Given the description of an element on the screen output the (x, y) to click on. 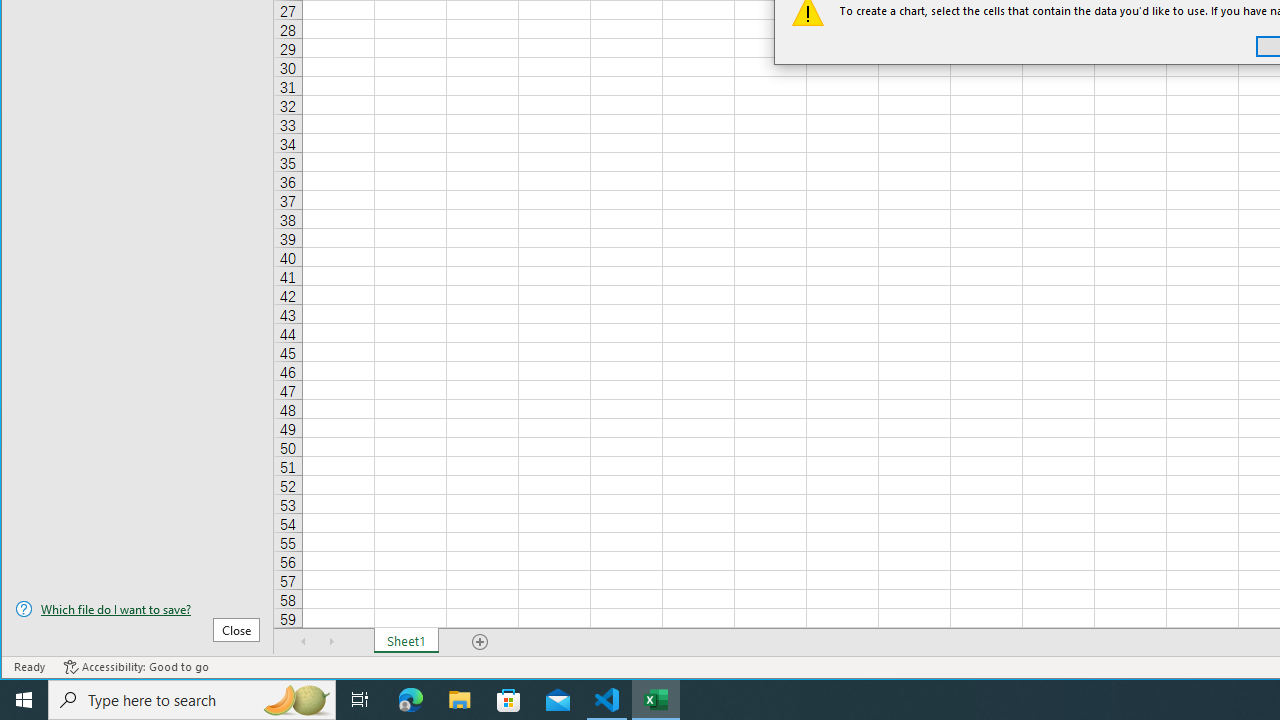
Type here to search (191, 699)
Microsoft Store (509, 699)
Search highlights icon opens search home window (295, 699)
Excel - 1 running window (656, 699)
Visual Studio Code - 1 running window (607, 699)
File Explorer (460, 699)
Start (24, 699)
Task View (359, 699)
